Given the description of an element on the screen output the (x, y) to click on. 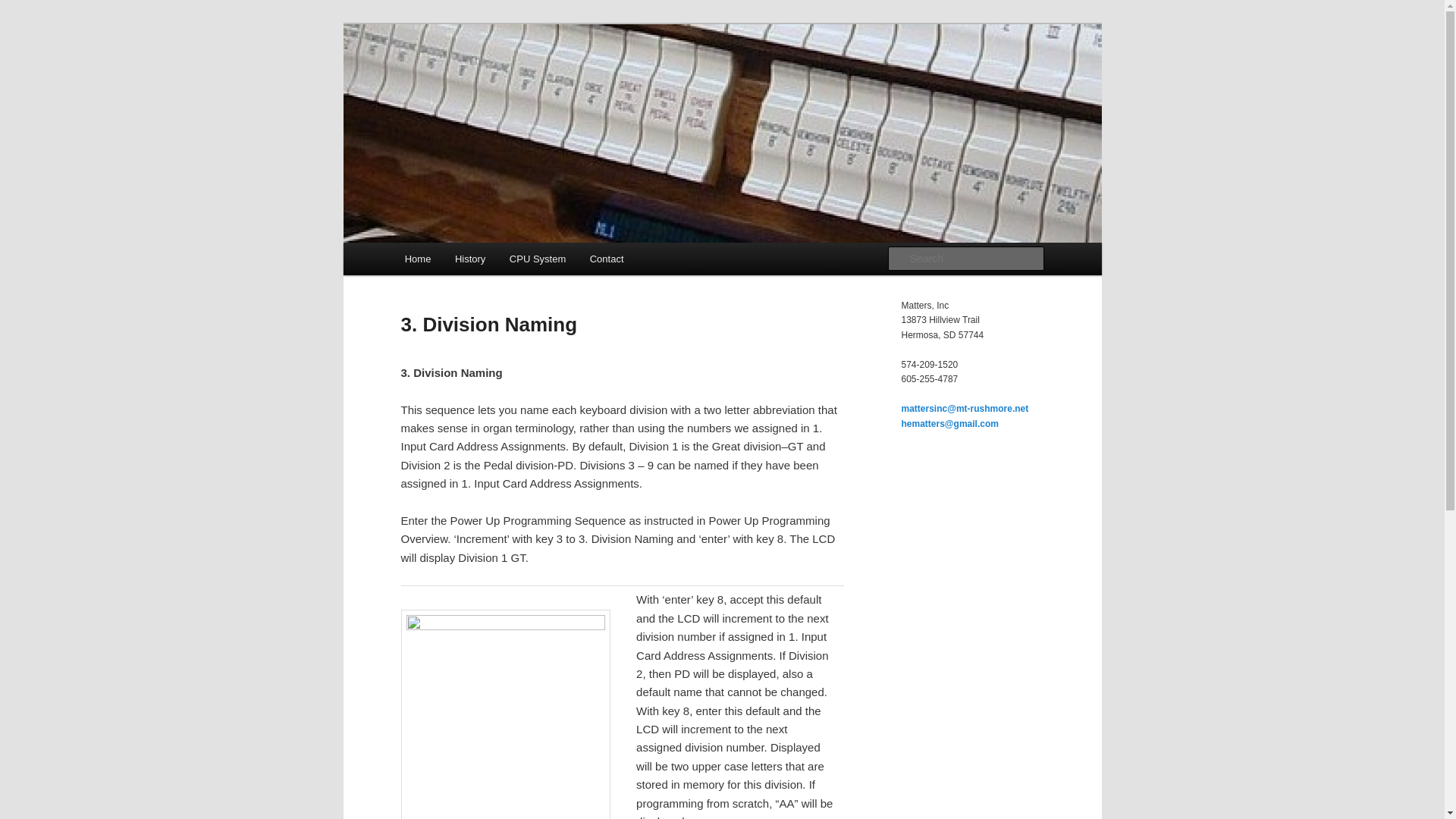
3. Division Naming (505, 714)
Contact (606, 258)
pipeorgancontrol.com (520, 78)
History (469, 258)
CPU System (537, 258)
Search (24, 8)
Home (417, 258)
